Given the description of an element on the screen output the (x, y) to click on. 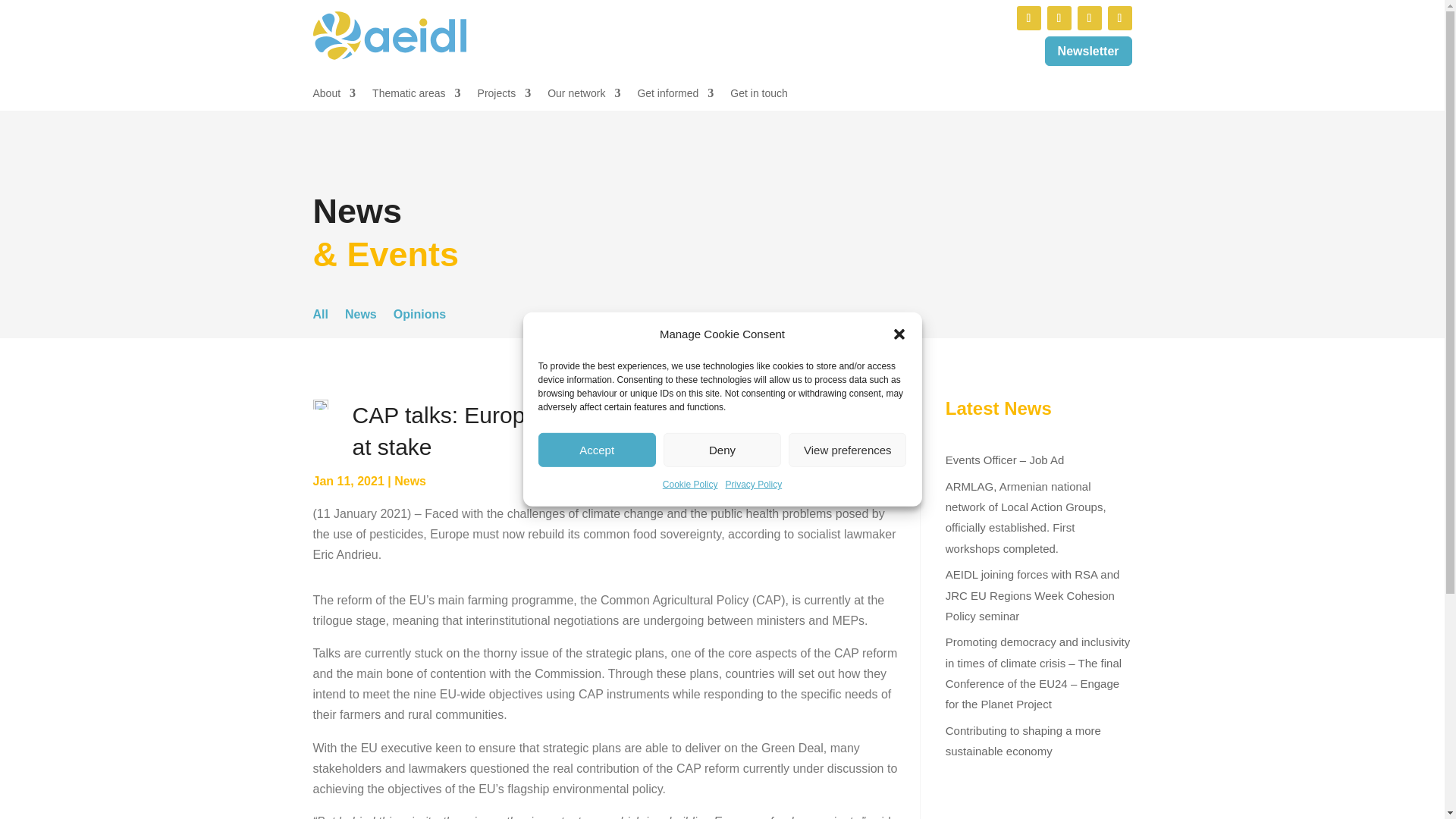
Projects (504, 95)
Newsletter (1088, 51)
Follow on Flickr (1118, 17)
Thematic areas (416, 95)
Cookie Policy (689, 485)
Follow on Facebook (1088, 17)
pac4 (320, 404)
View preferences (847, 449)
Deny (721, 449)
Our network (583, 95)
